Given the description of an element on the screen output the (x, y) to click on. 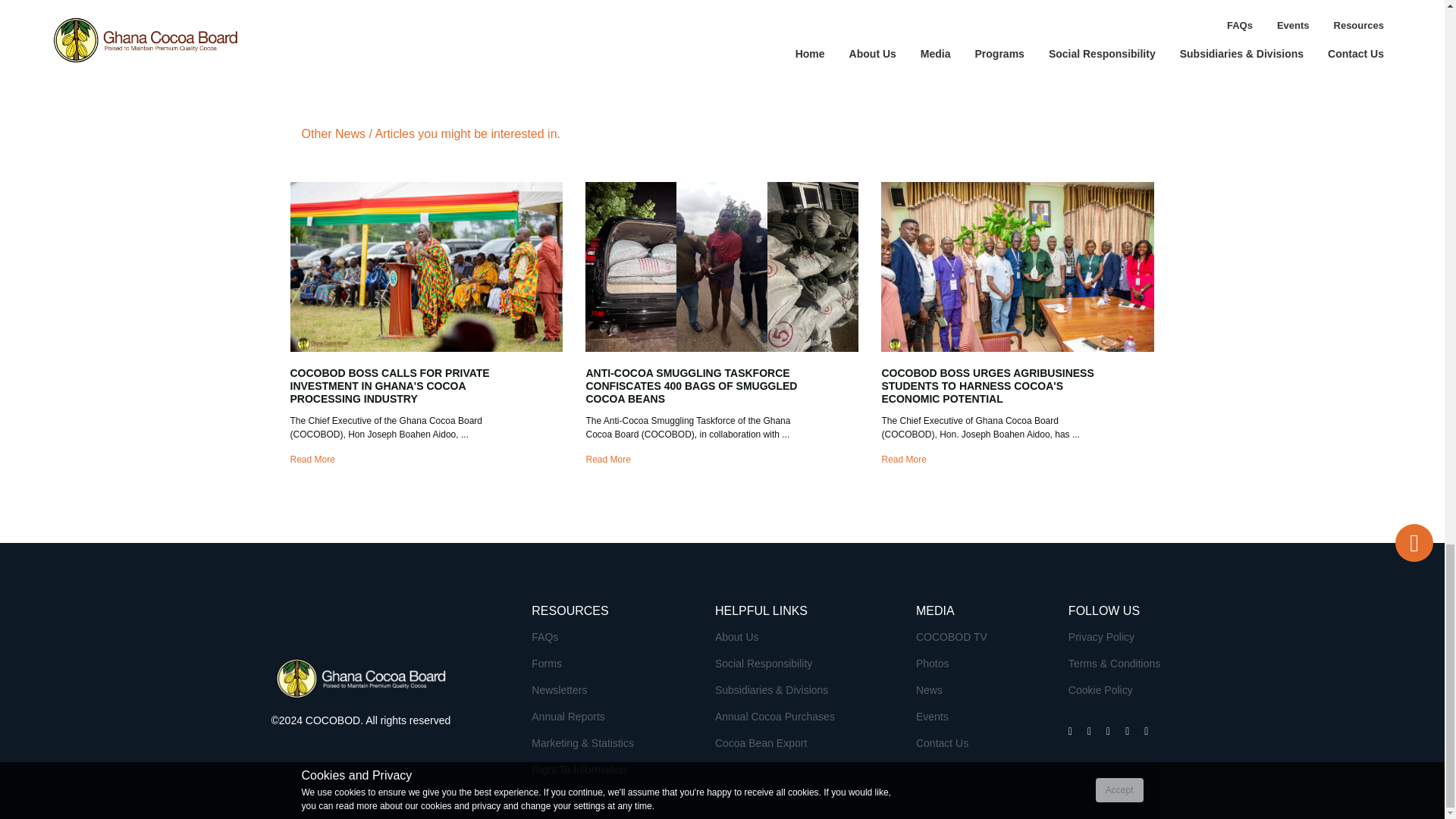
Read More (607, 459)
Read More (311, 459)
FAQs (544, 636)
Read More (903, 459)
